Given the description of an element on the screen output the (x, y) to click on. 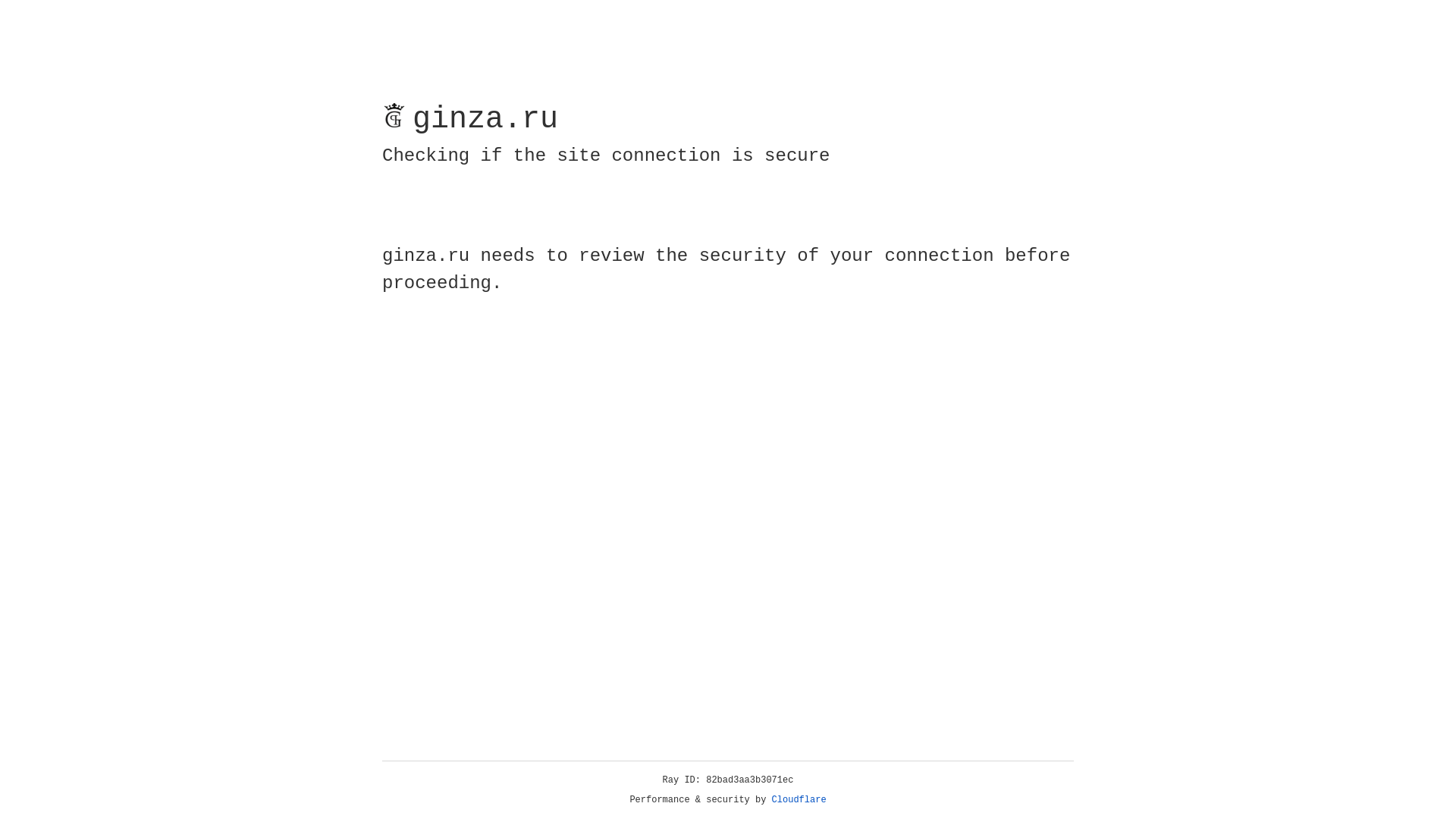
Cloudflare Element type: text (798, 799)
